Given the description of an element on the screen output the (x, y) to click on. 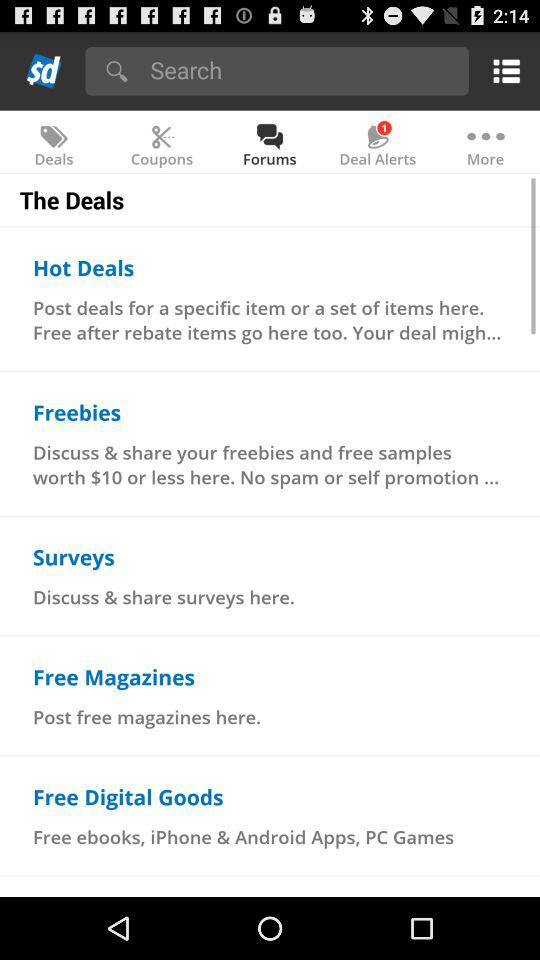
scroll to free ebooks iphone (243, 836)
